Given the description of an element on the screen output the (x, y) to click on. 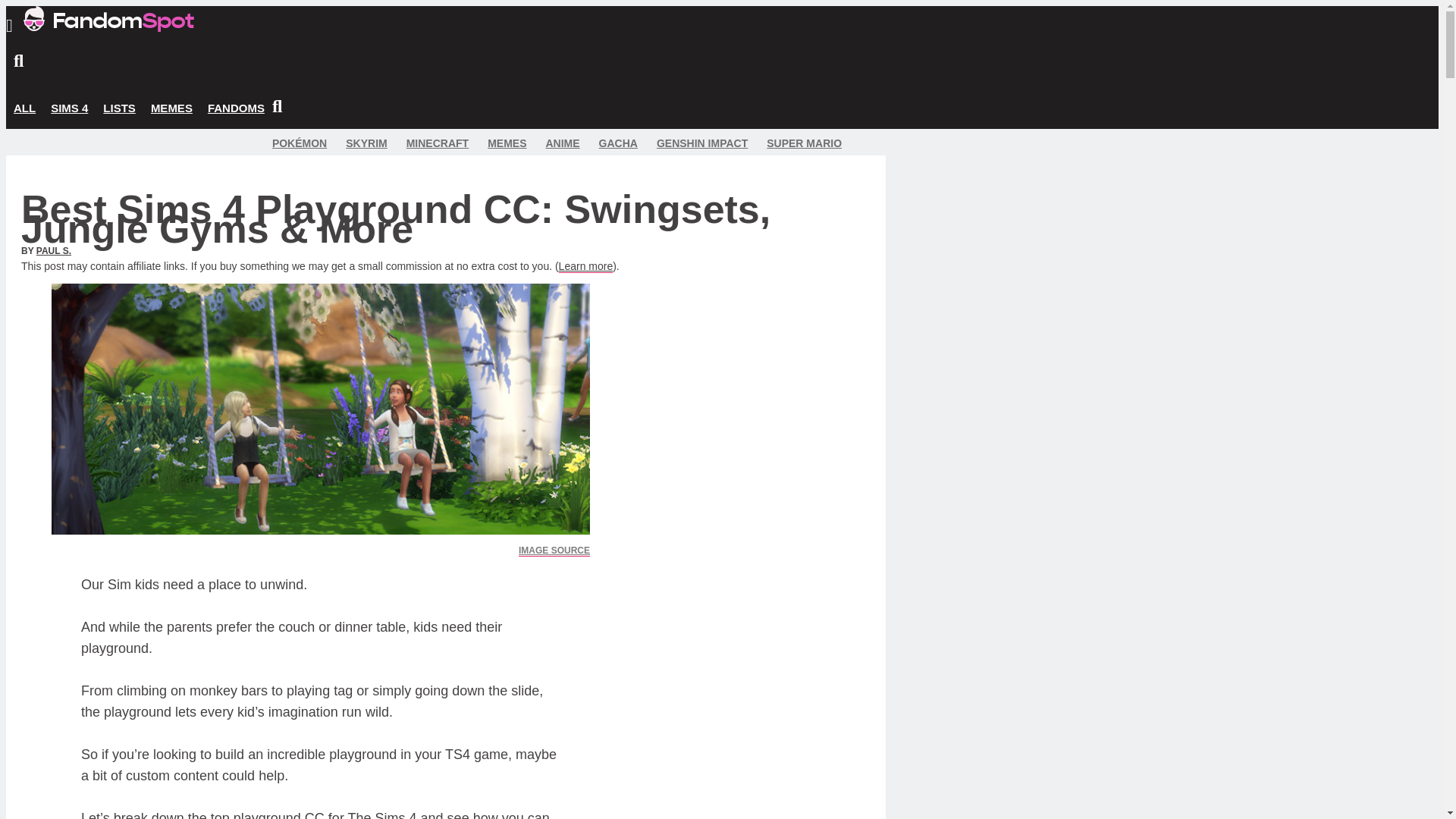
GACHA (617, 143)
GENSHIN IMPACT (702, 143)
MEMES (171, 108)
LISTS (119, 108)
MINECRAFT (437, 143)
FandomSpot (108, 27)
ANIME (561, 143)
FANDOMS (236, 108)
Learn more (585, 266)
SIMS 4 (69, 108)
